Given the description of an element on the screen output the (x, y) to click on. 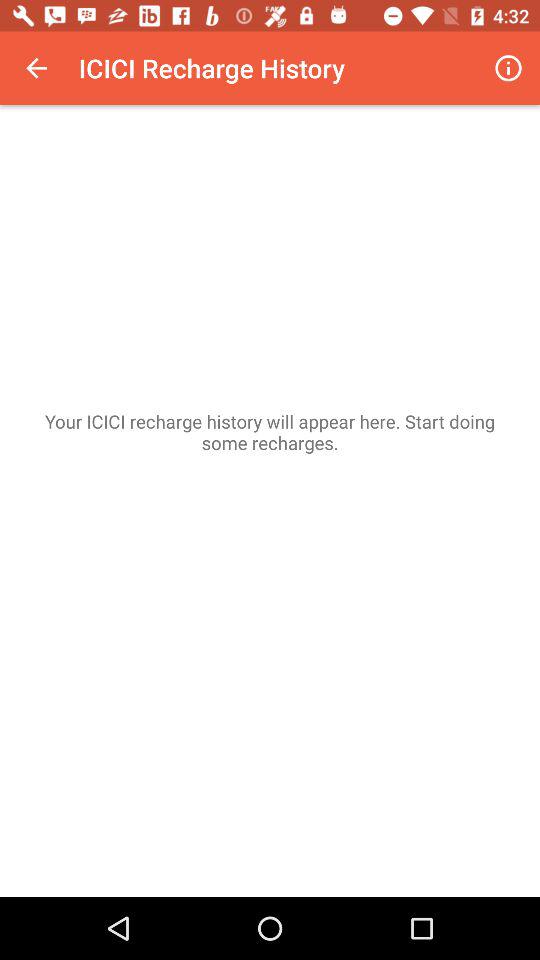
press the item at the top right corner (508, 67)
